Given the description of an element on the screen output the (x, y) to click on. 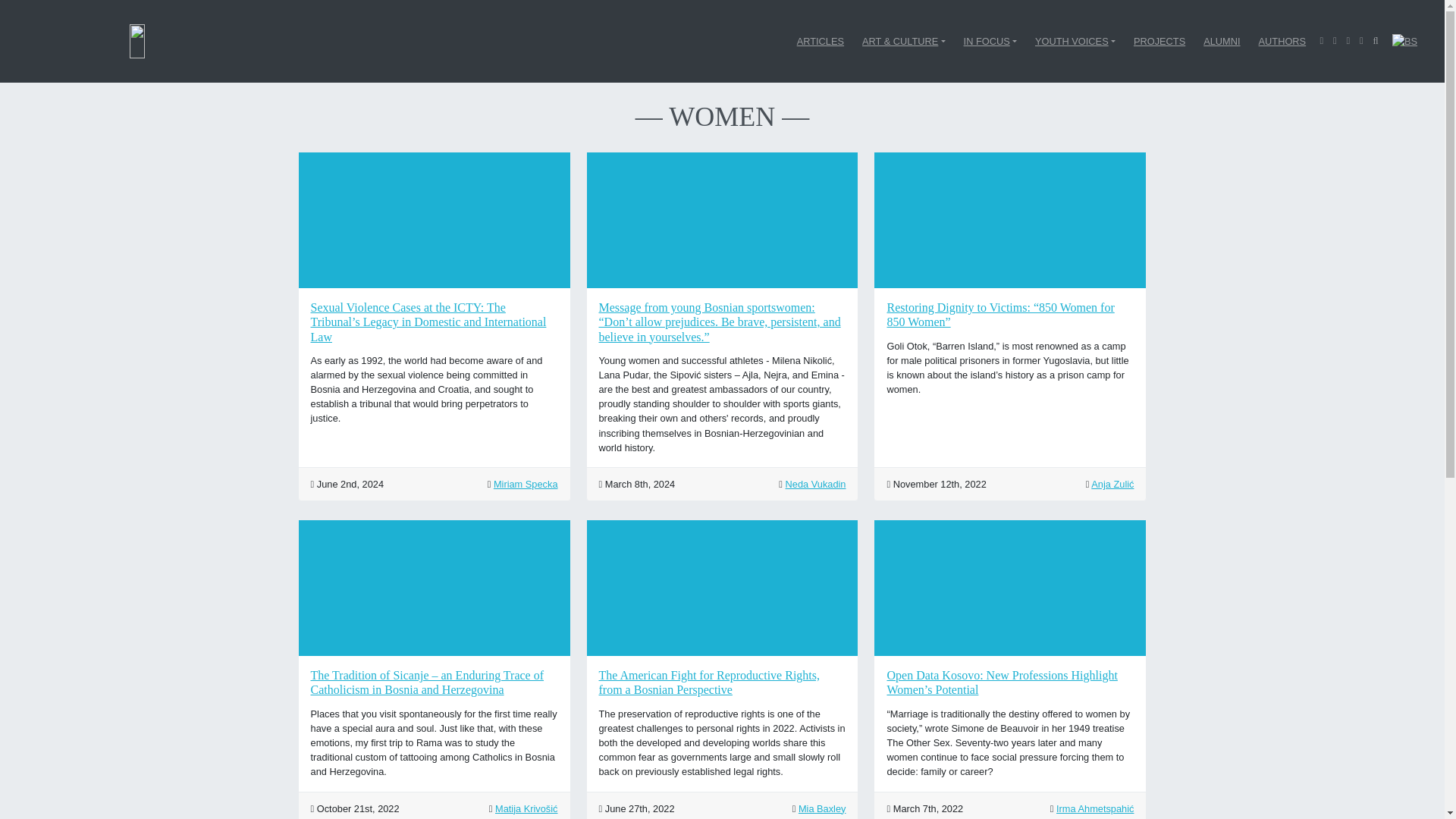
IN FOCUS (990, 40)
Youtube (1347, 40)
ALUMNI (1221, 40)
AUTHORS (1282, 40)
Neda Vukadin (815, 483)
Facebook (1320, 40)
Youtube (1361, 40)
Search (1375, 40)
YOUTH VOICES (1075, 40)
ARTICLES (820, 40)
Miriam Specka (525, 483)
Twitter (1333, 40)
PROJECTS (1158, 40)
